Given the description of an element on the screen output the (x, y) to click on. 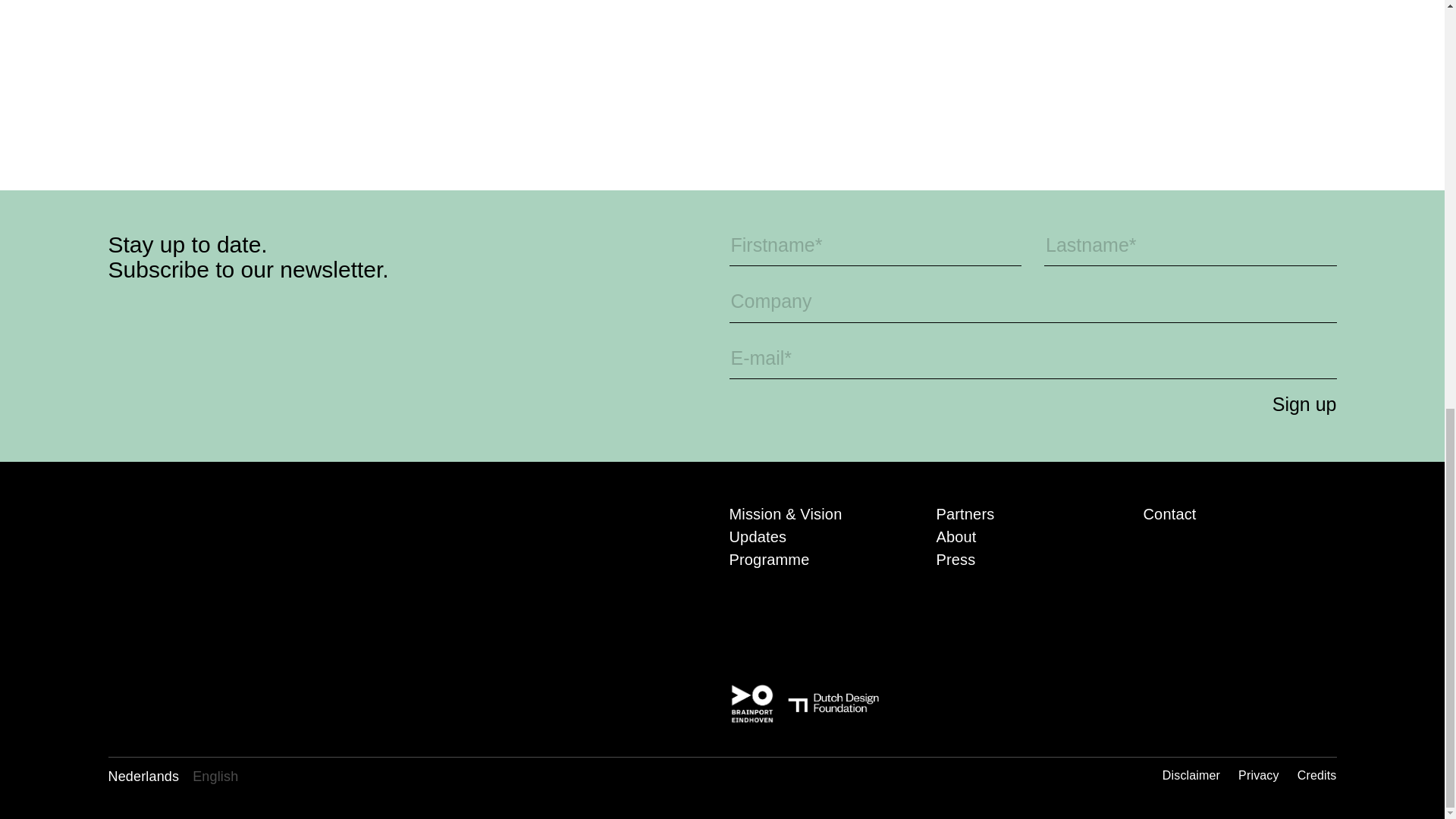
About (955, 536)
Programme (769, 559)
Contact (1169, 514)
Partners (965, 514)
English (215, 776)
Press (955, 559)
Updates (758, 536)
Sign up (1282, 403)
Nederlands (143, 776)
